Given the description of an element on the screen output the (x, y) to click on. 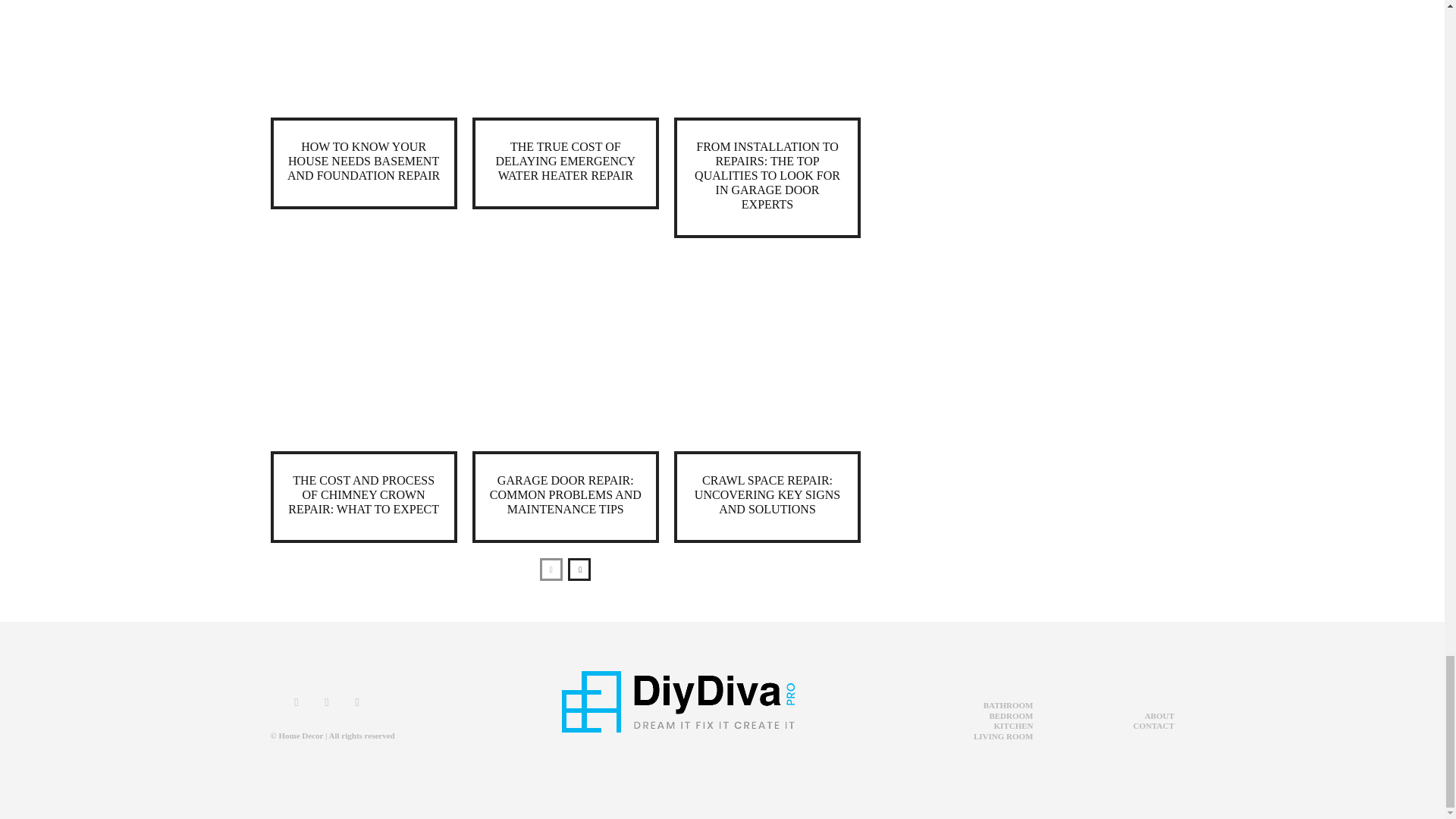
The True Cost of Delaying Emergency Water Heater Repair (564, 160)
How to Know Your House Needs Basement and Foundation Repair (363, 58)
How to Know Your House Needs Basement and Foundation Repair (362, 160)
The True Cost of Delaying Emergency Water Heater Repair (565, 58)
